Given the description of an element on the screen output the (x, y) to click on. 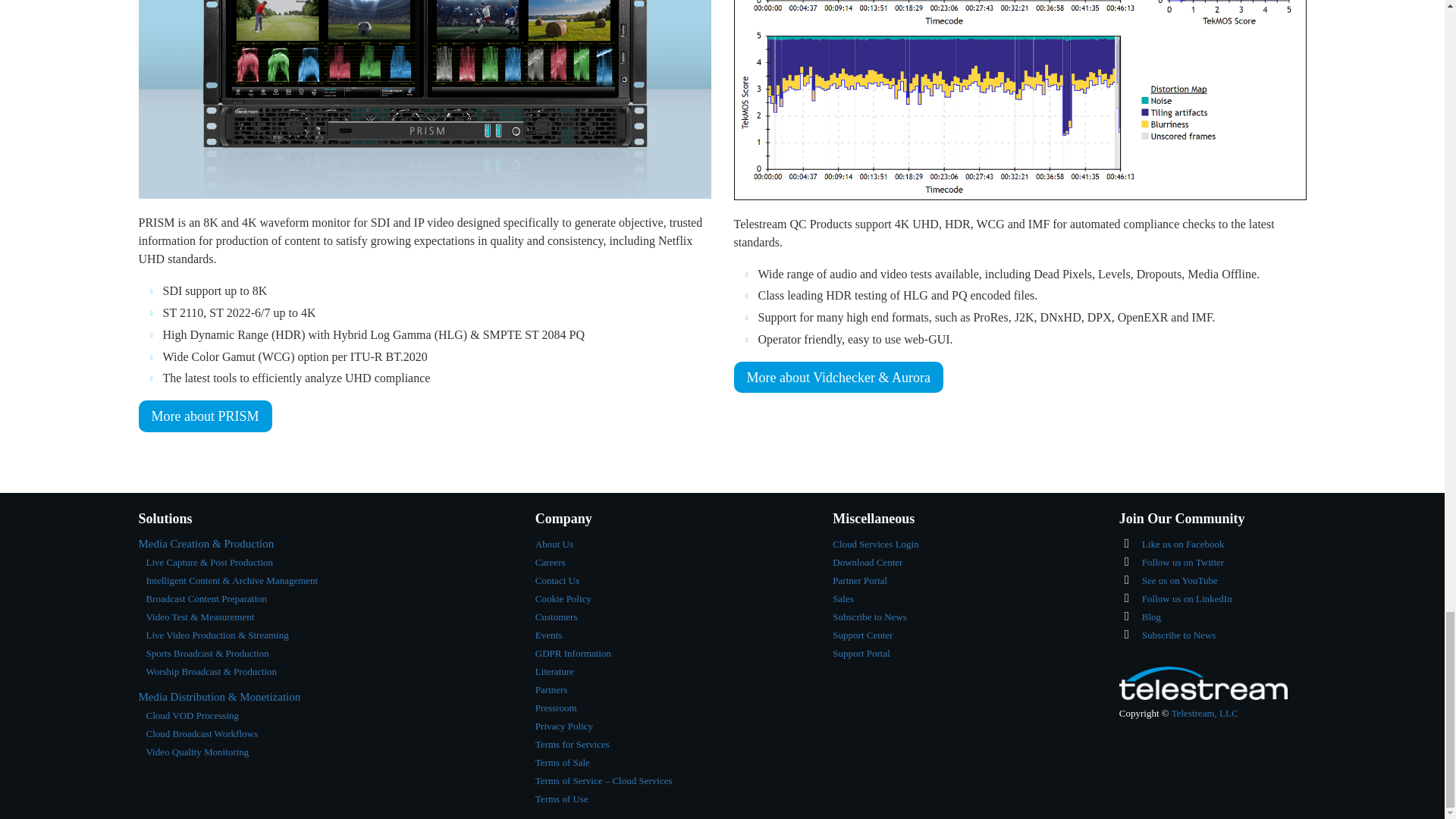
Telestream home page (1205, 713)
